Given the description of an element on the screen output the (x, y) to click on. 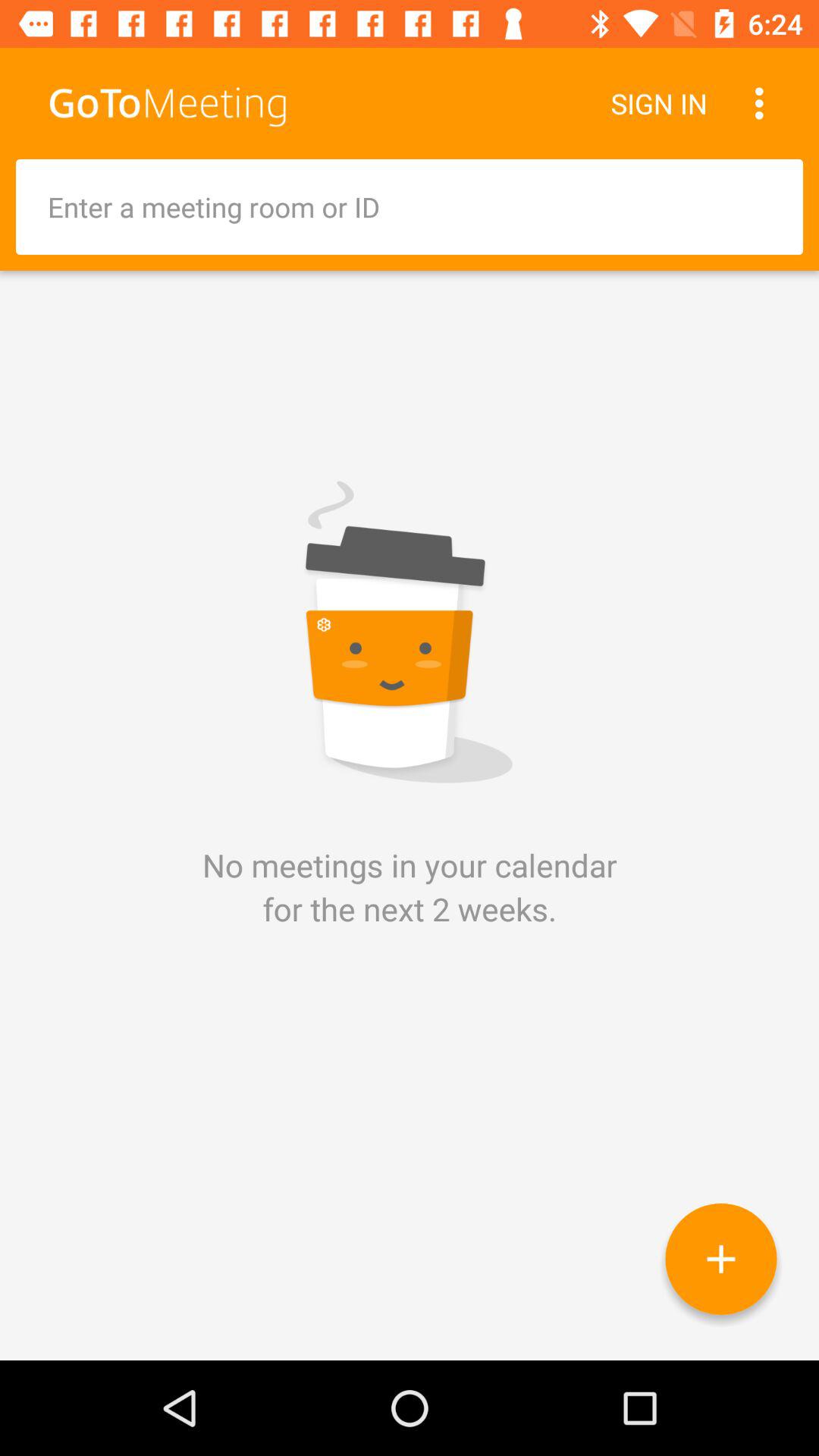
click to entire information (409, 206)
